Given the description of an element on the screen output the (x, y) to click on. 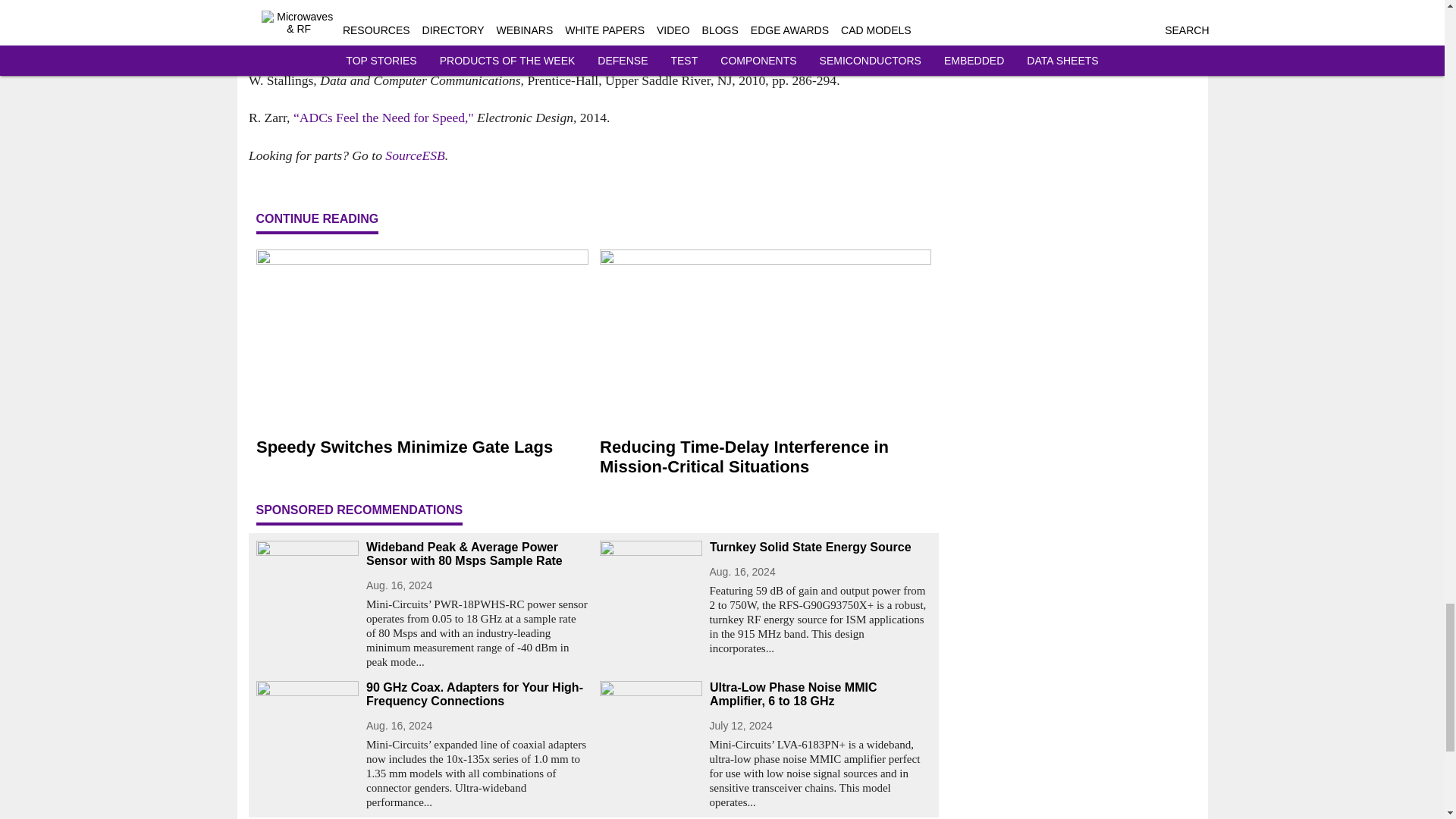
Speedy Switches Minimize Gate Lags (422, 447)
SourceESB (415, 155)
